Given the description of an element on the screen output the (x, y) to click on. 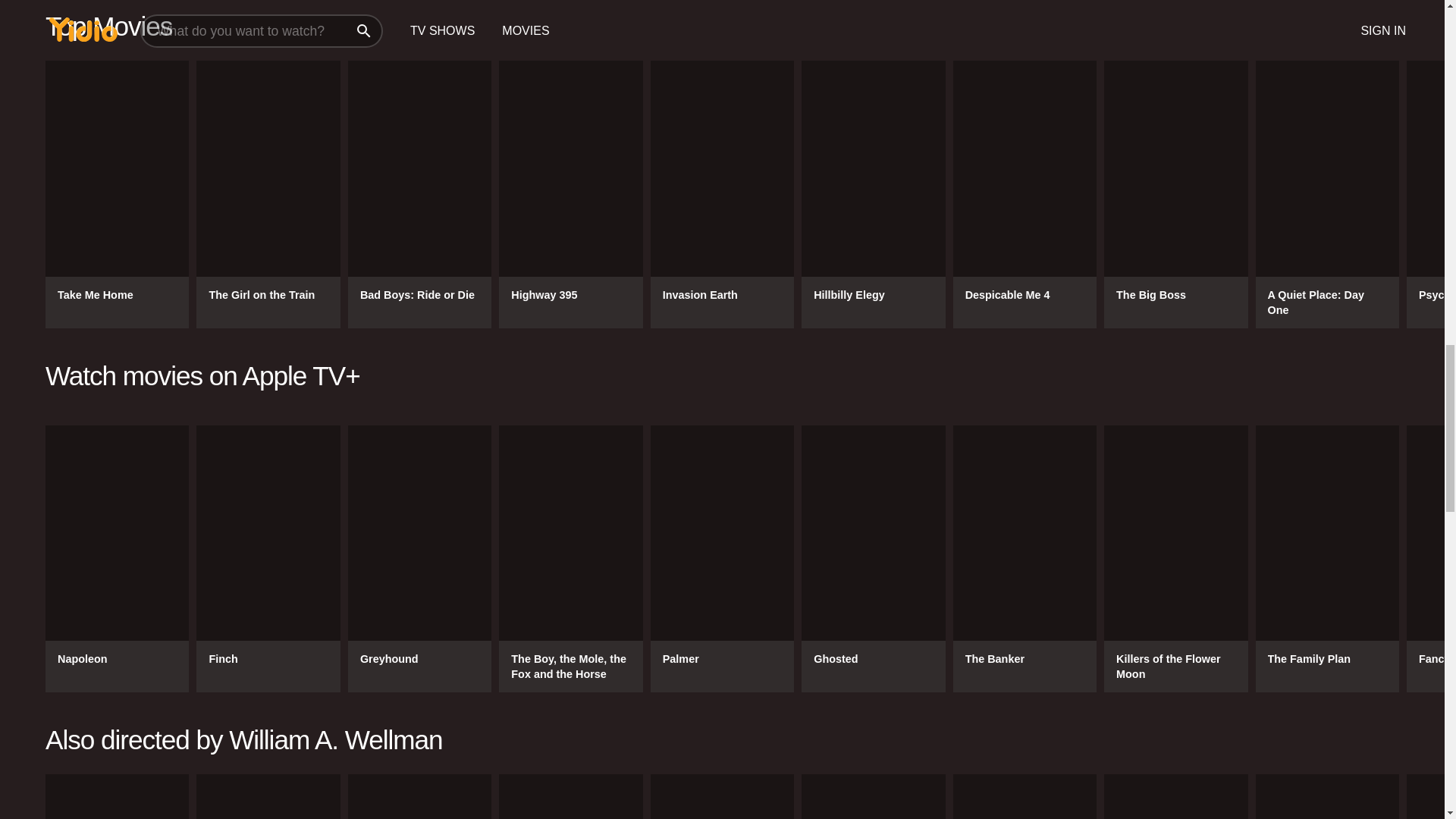
Palmer (721, 558)
Hillbilly Elegy (873, 193)
The Boy, the Mole, the Fox and the Horse (570, 558)
Take Me Home (117, 193)
Napoleon (117, 558)
The Big Boss (1175, 193)
Despicable Me 4 (1024, 193)
Invasion Earth (721, 193)
Ghosted (873, 558)
The Banker (1024, 558)
Highway 395 (570, 193)
Finch (267, 558)
A Quiet Place: Day One (1327, 193)
Killers of the Flower Moon (1175, 558)
Bad Boys: Ride or Die (419, 193)
